Given the description of an element on the screen output the (x, y) to click on. 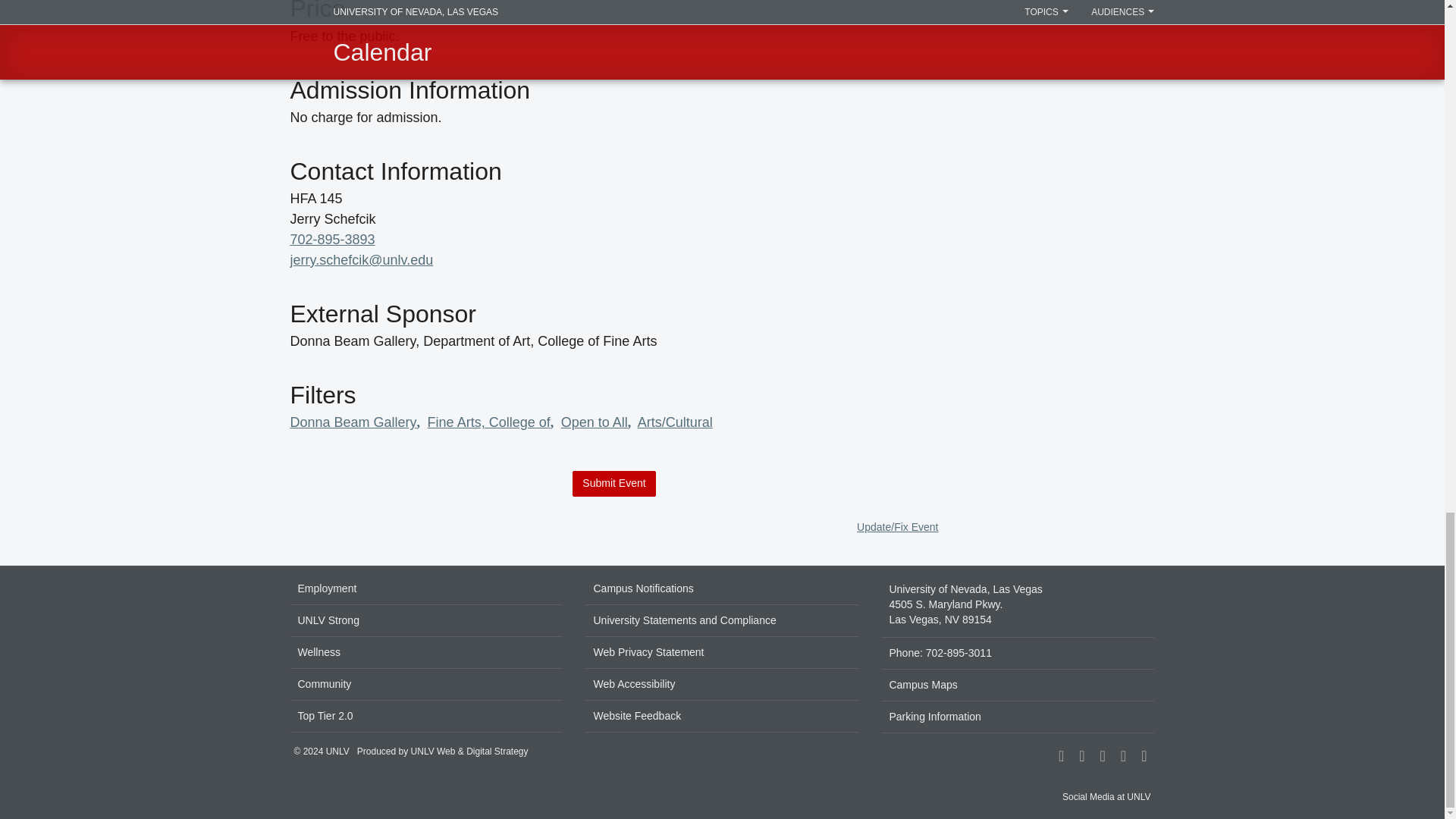
Find us on Facebook (1060, 757)
Find us on Instagram (1081, 757)
Follow us on Twitter (1122, 757)
Watch us on YouTube (1143, 757)
View Campus Map (1017, 605)
Follow us on TikTok (1102, 757)
